Given the description of an element on the screen output the (x, y) to click on. 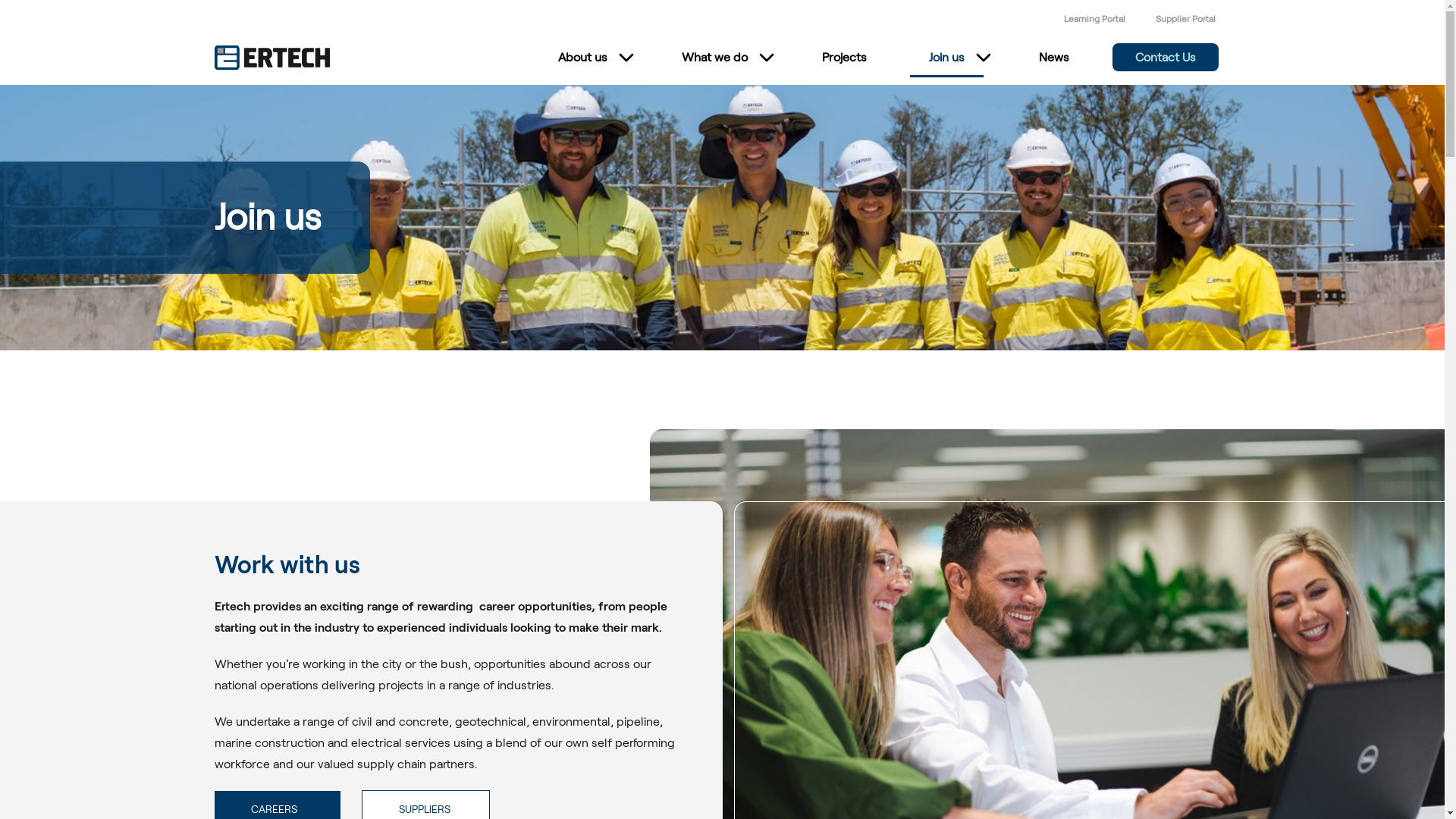
About us Element type: text (581, 58)
Learning Portal Element type: text (1093, 18)
Join us Element type: text (946, 58)
News Element type: text (1053, 58)
Projects Element type: text (843, 58)
What we do Element type: text (714, 58)
Contact Us Element type: text (1164, 57)
Supplier Portal Element type: text (1185, 18)
